Given the description of an element on the screen output the (x, y) to click on. 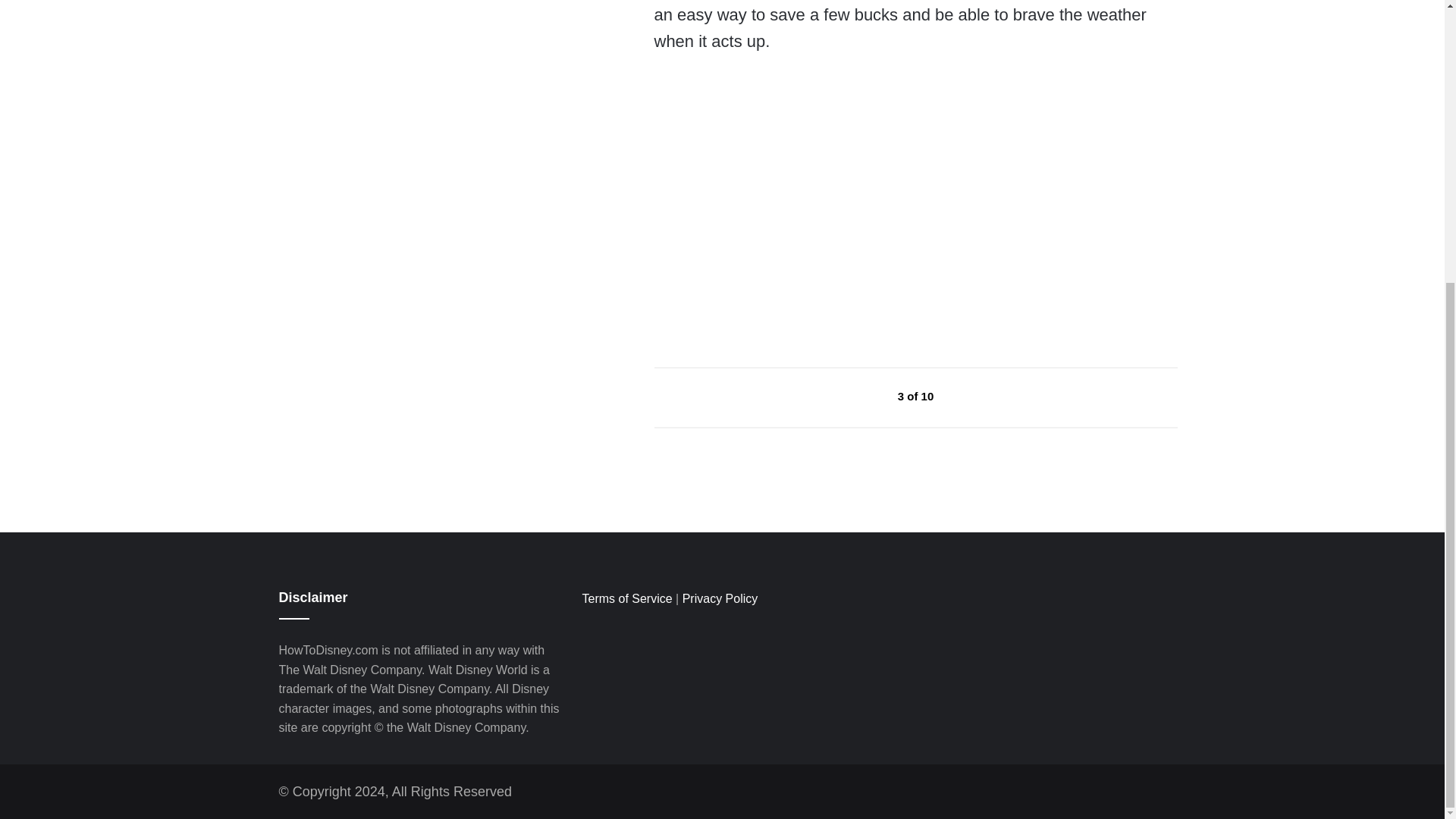
Left (863, 395)
Privacy Policy (720, 598)
Terms of Service (625, 598)
right (969, 395)
